Given the description of an element on the screen output the (x, y) to click on. 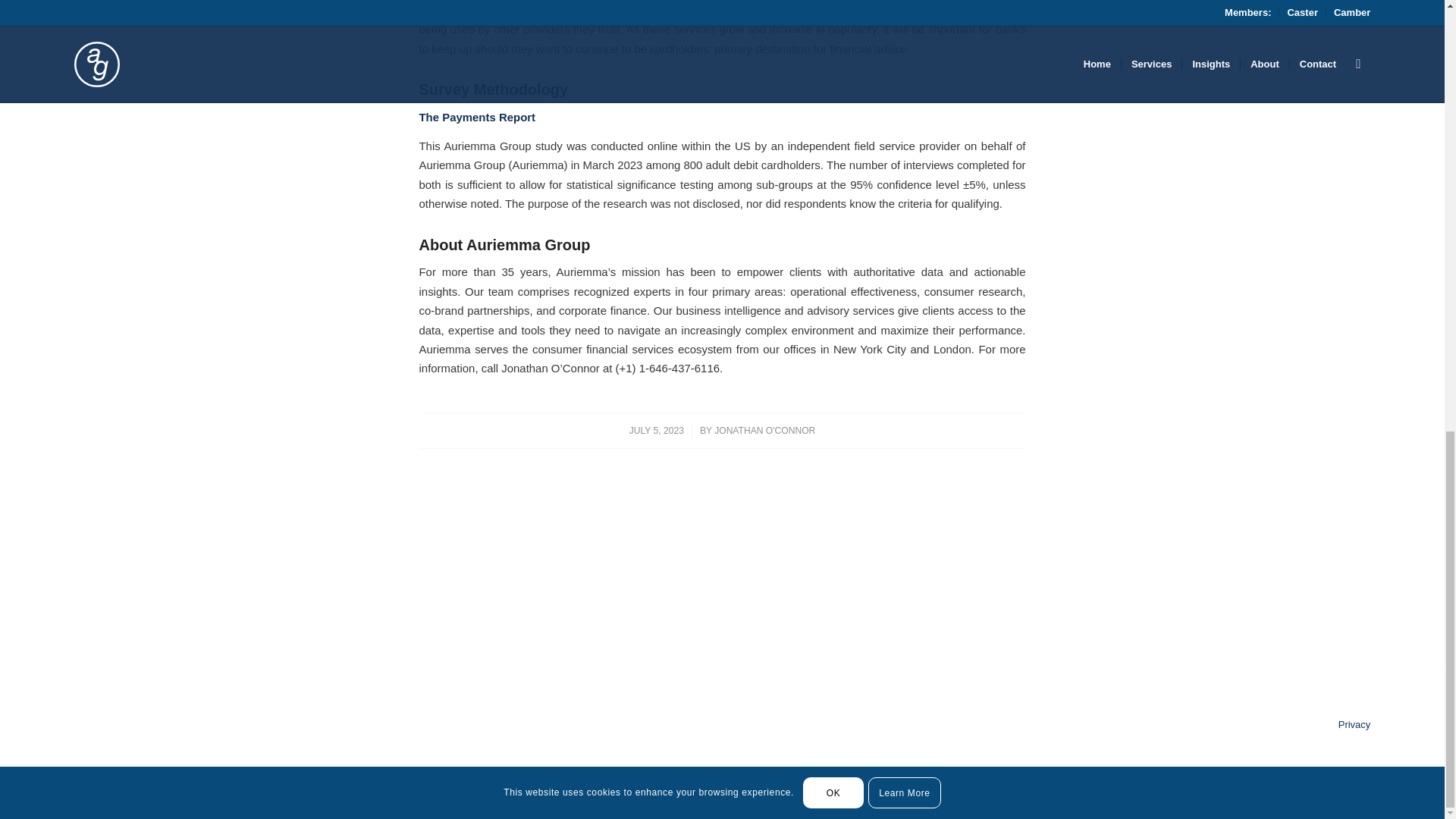
Privacy (1354, 724)
JONATHAN O'CONNOR (764, 430)
Posts by Jonathan O'Connor (764, 430)
